Given the description of an element on the screen output the (x, y) to click on. 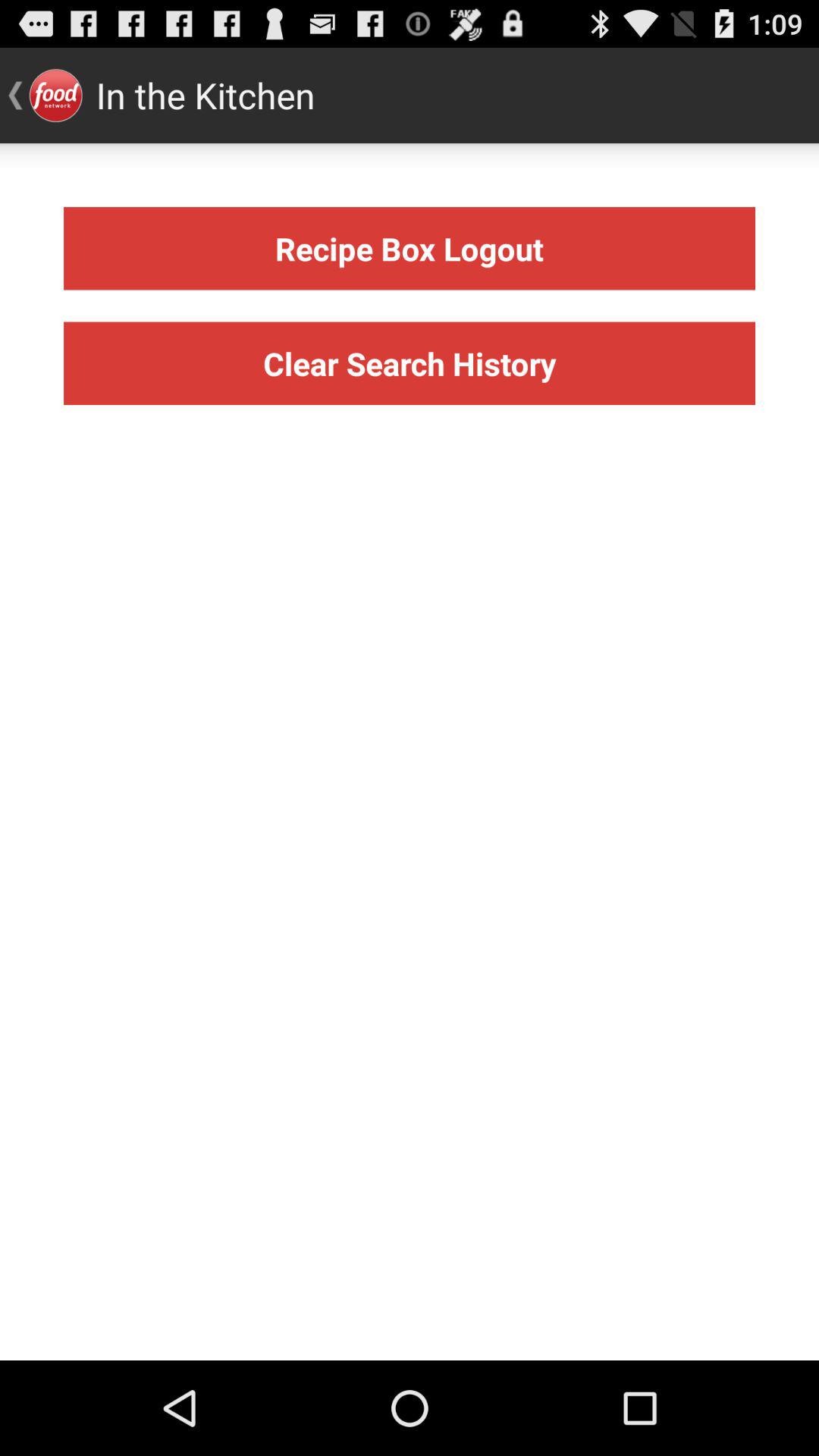
launch icon below the recipe box logout icon (409, 362)
